Given the description of an element on the screen output the (x, y) to click on. 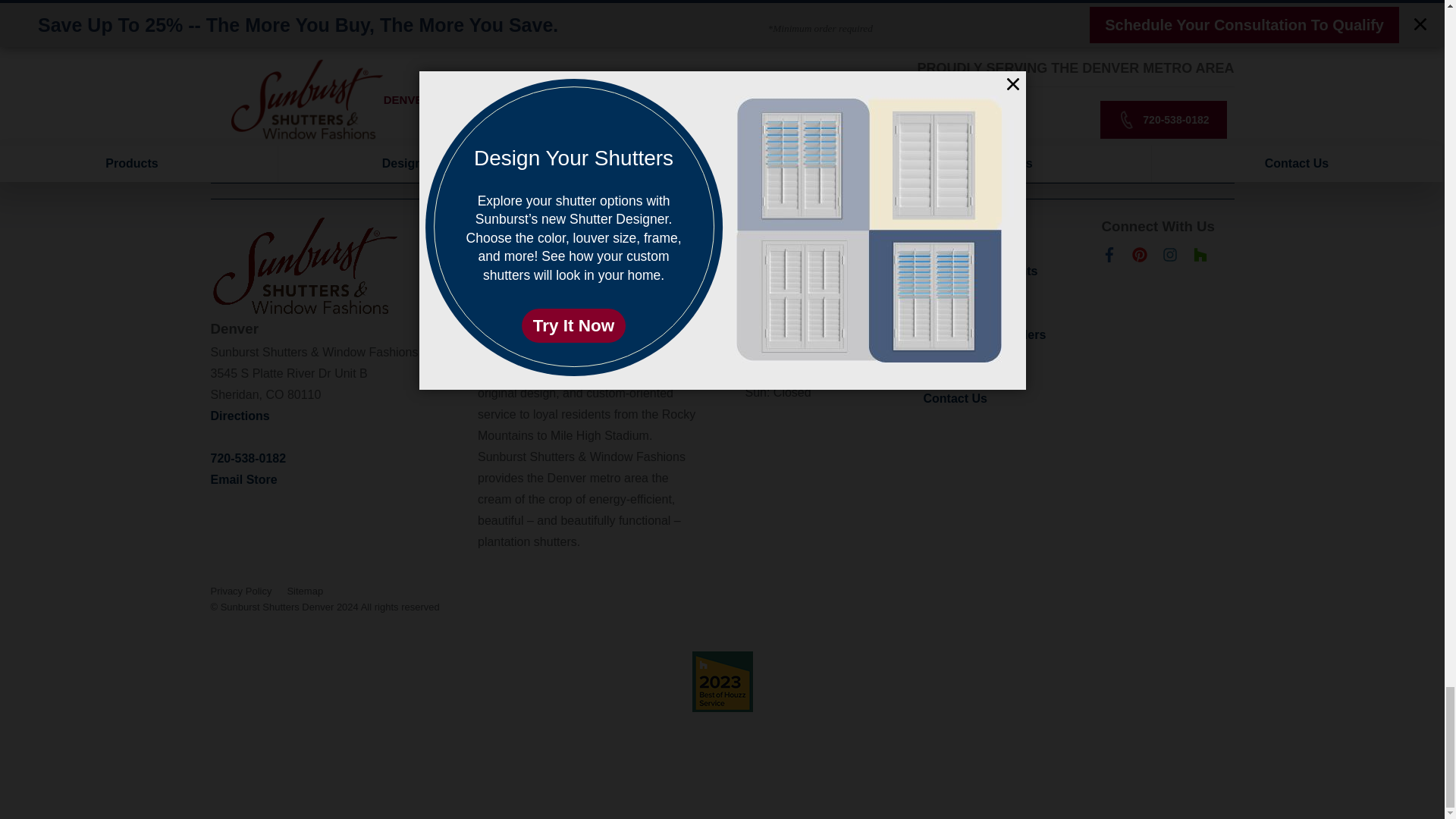
Follow us on Instagram (1168, 257)
Like us on Facebook (1108, 257)
Follow us on Pinterest (1139, 257)
Save us on Houzz (1199, 257)
Best Of Houzz 2024 (721, 681)
